Given the description of an element on the screen output the (x, y) to click on. 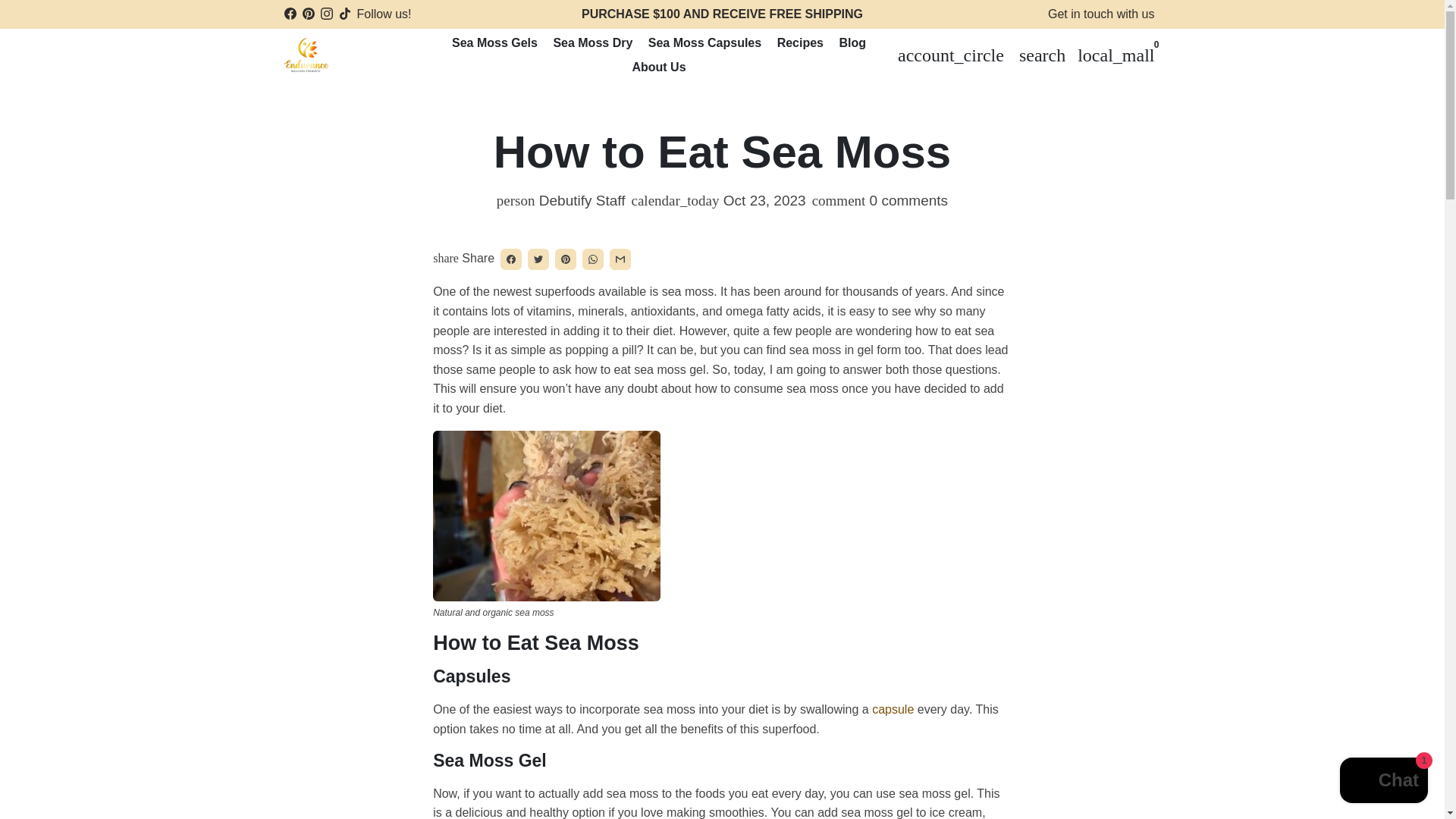
Endurance Wellness Products on Pinterest (307, 13)
Endurance Wellness Products on Facebook (289, 13)
search (1042, 55)
Sea Moss Gels (494, 43)
Sea Moss Dry (593, 43)
Sea Moss Capsules (704, 43)
About Us (658, 67)
Cart (1115, 55)
Log In (950, 55)
Endurance Wellness Products on Tiktok (343, 13)
Blog (852, 43)
Endurance Wellness Products on Instagram (325, 13)
Recipes (800, 43)
Search (1042, 55)
